Given the description of an element on the screen output the (x, y) to click on. 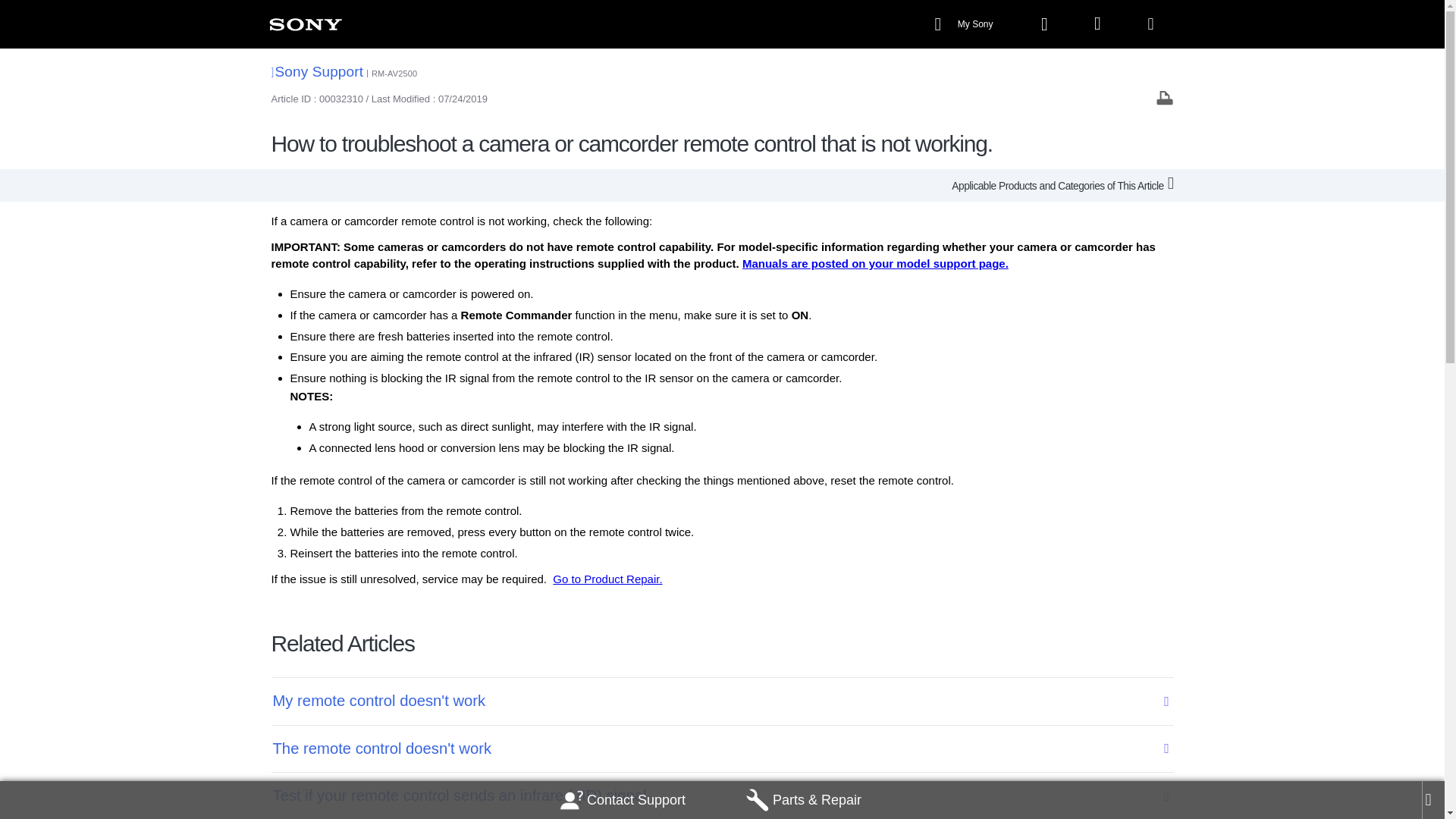
Print (1164, 97)
Contact Support (622, 799)
My Sony (964, 24)
